Given the description of an element on the screen output the (x, y) to click on. 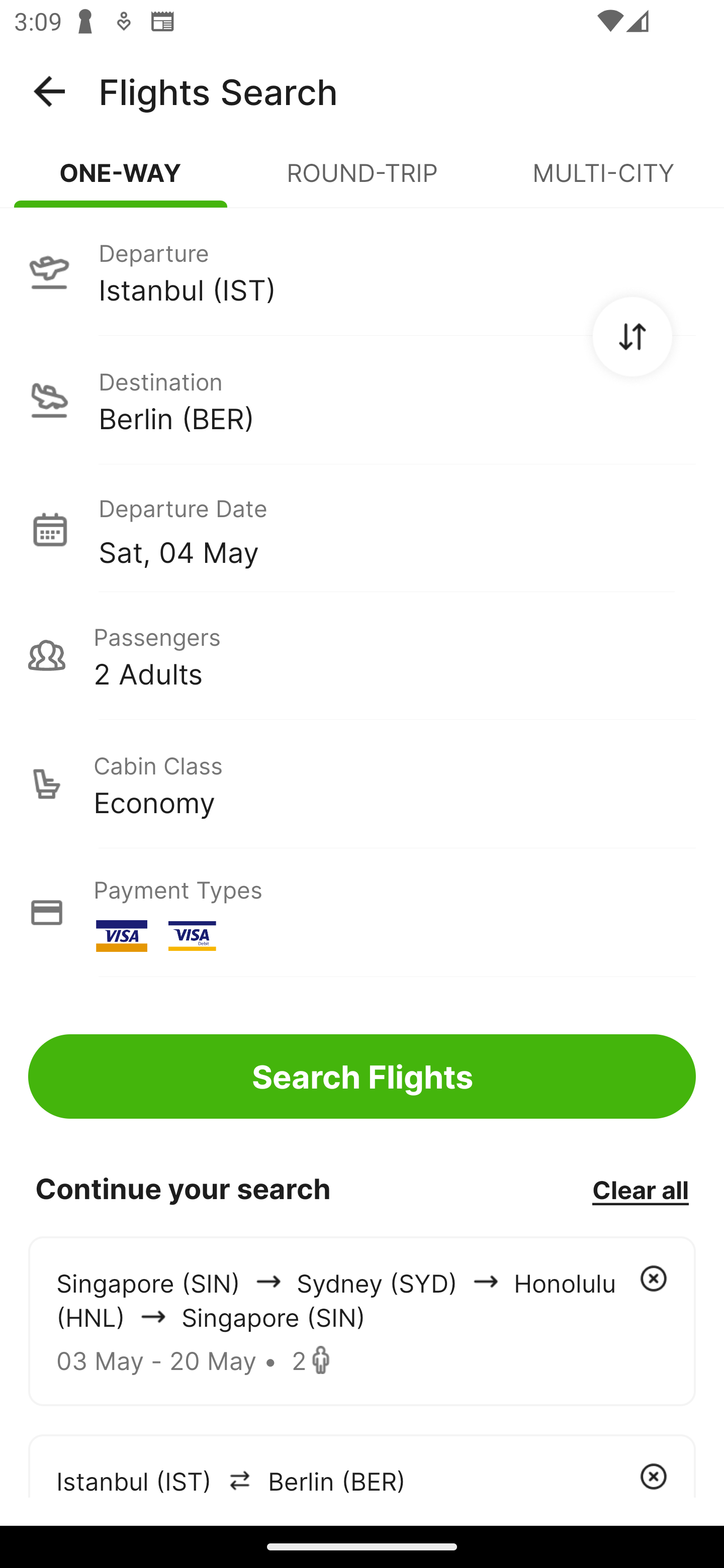
ONE-WAY (120, 180)
ROUND-TRIP (361, 180)
MULTI-CITY (603, 180)
Departure Istanbul (IST) (362, 270)
Destination Berlin (BER) (362, 400)
Departure Date Sat, 04 May (396, 528)
Passengers 2 Adults (362, 655)
Cabin Class Economy (362, 783)
Payment Types (362, 912)
Search Flights (361, 1075)
Clear all (640, 1189)
Istanbul (IST)  arrowIcon  Berlin (BER) (361, 1465)
